Given the description of an element on the screen output the (x, y) to click on. 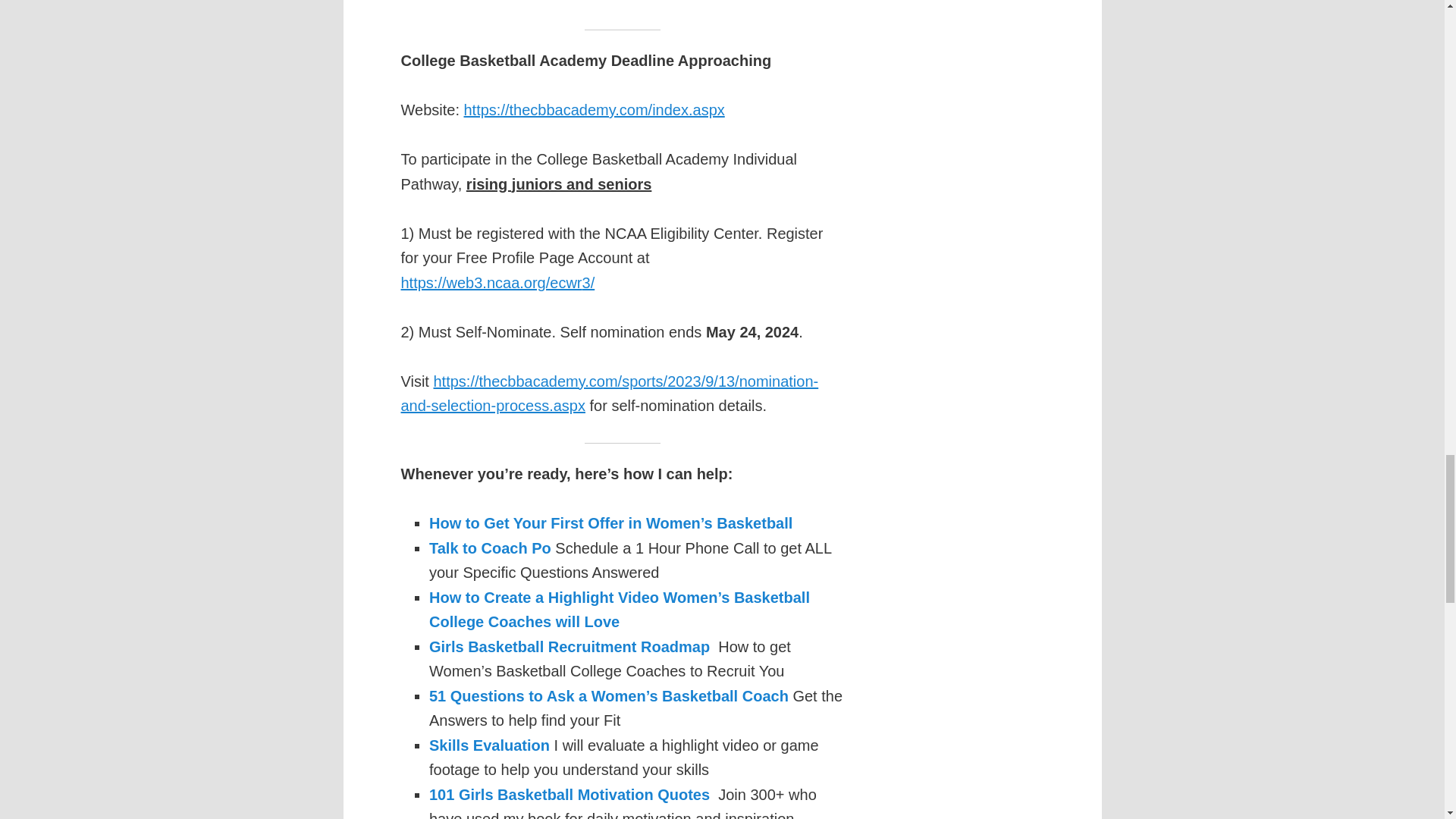
Girls Basketball Recruitment Roadmap (569, 646)
Skills Evaluation (489, 745)
Talk to Coach Po (490, 547)
101 Girls Basketball Motivation Quotes (569, 794)
